Given the description of an element on the screen output the (x, y) to click on. 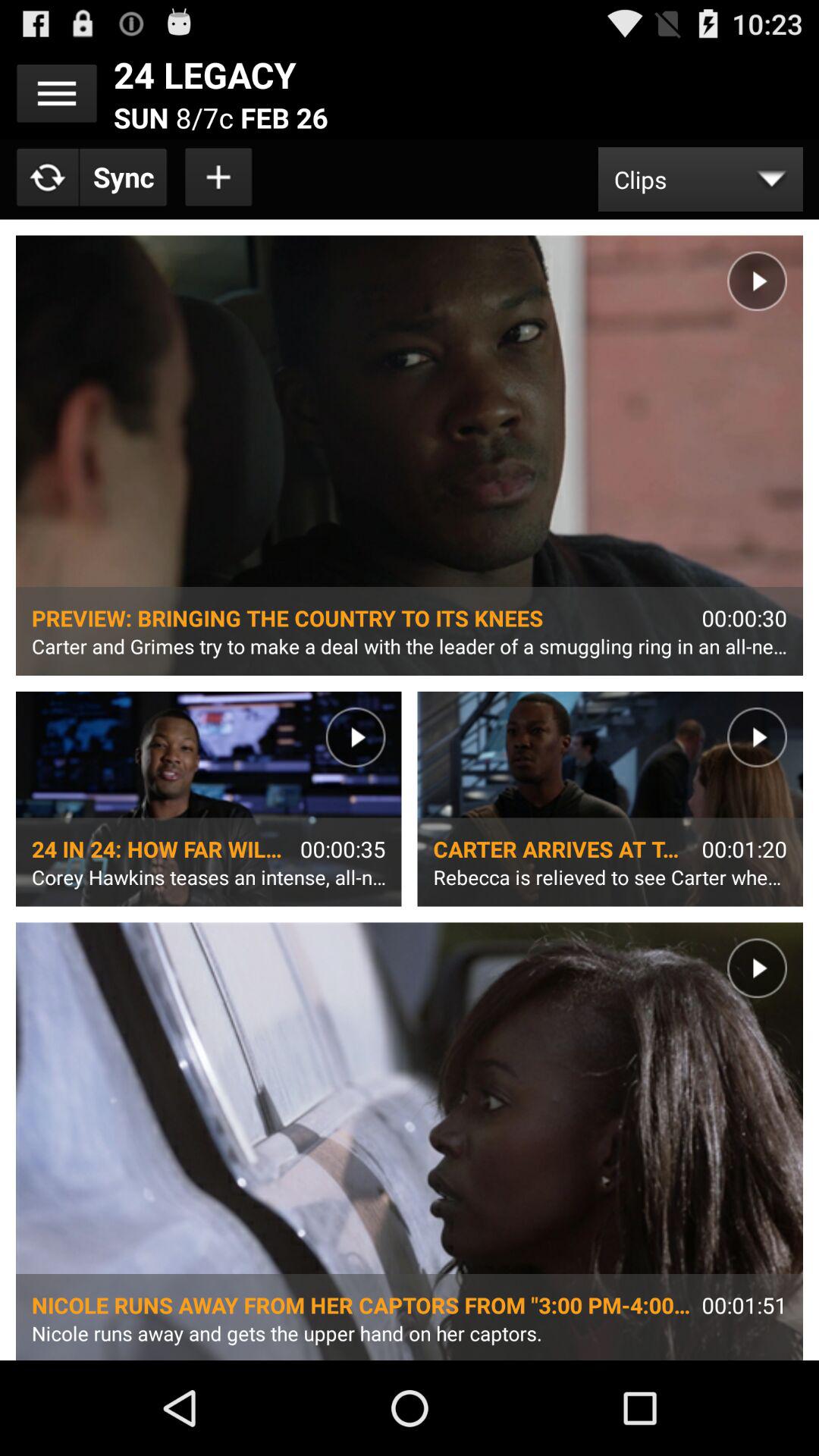
more option (56, 93)
